Given the description of an element on the screen output the (x, y) to click on. 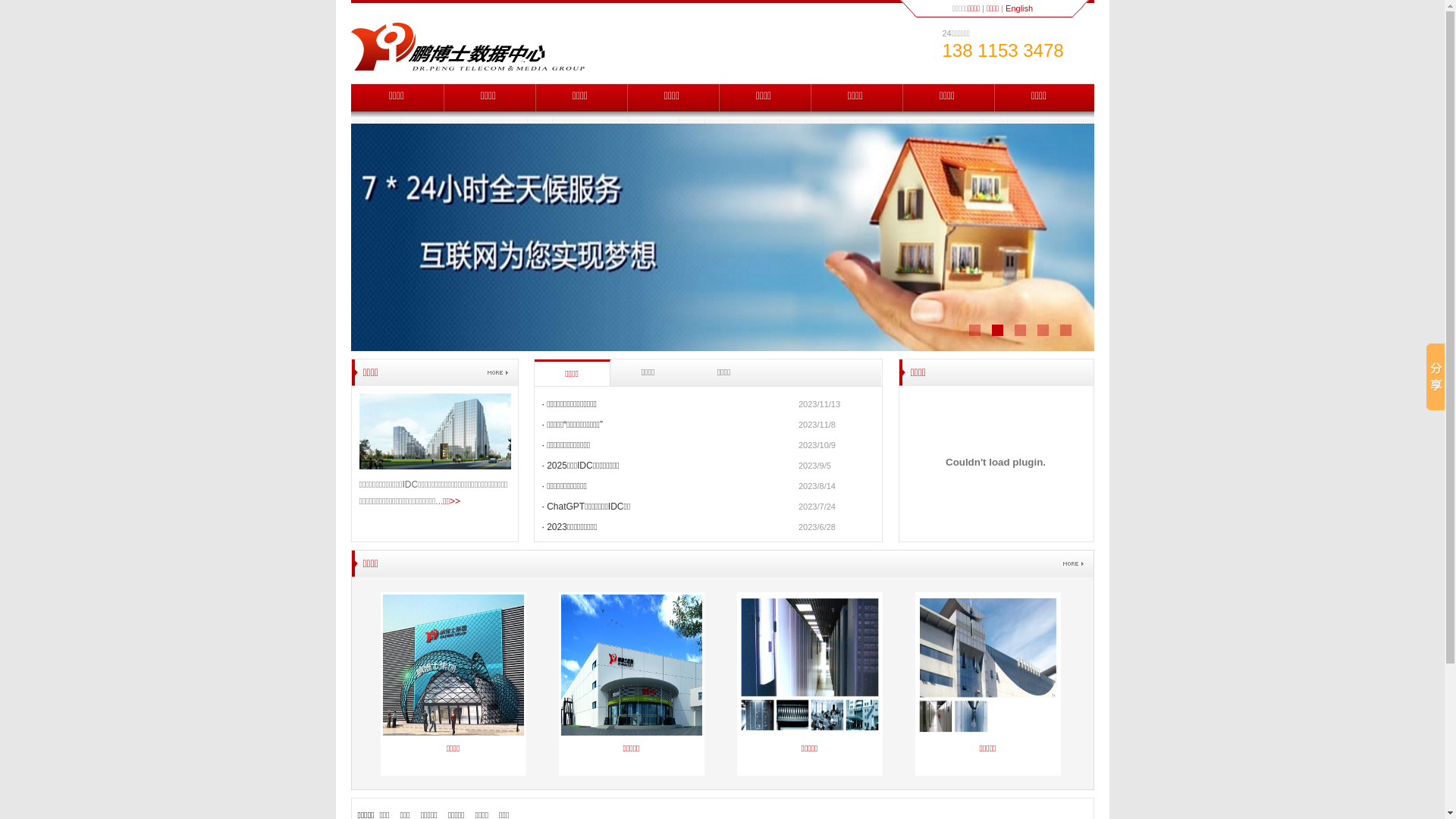
English Element type: text (1018, 7)
